Given the description of an element on the screen output the (x, y) to click on. 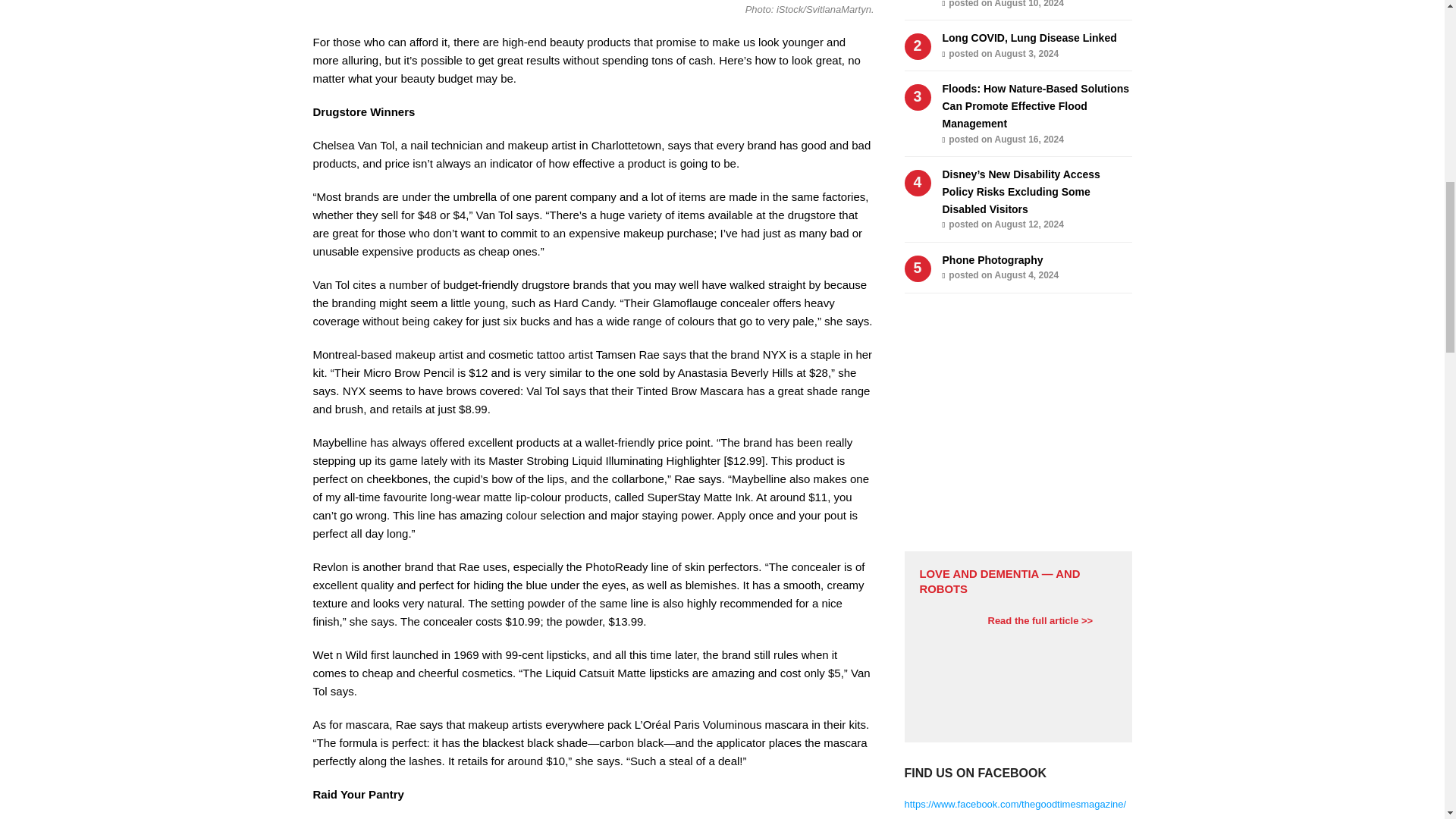
Phone Photography (992, 259)
Long COVID, Lung Disease Linked (1029, 37)
